Given the description of an element on the screen output the (x, y) to click on. 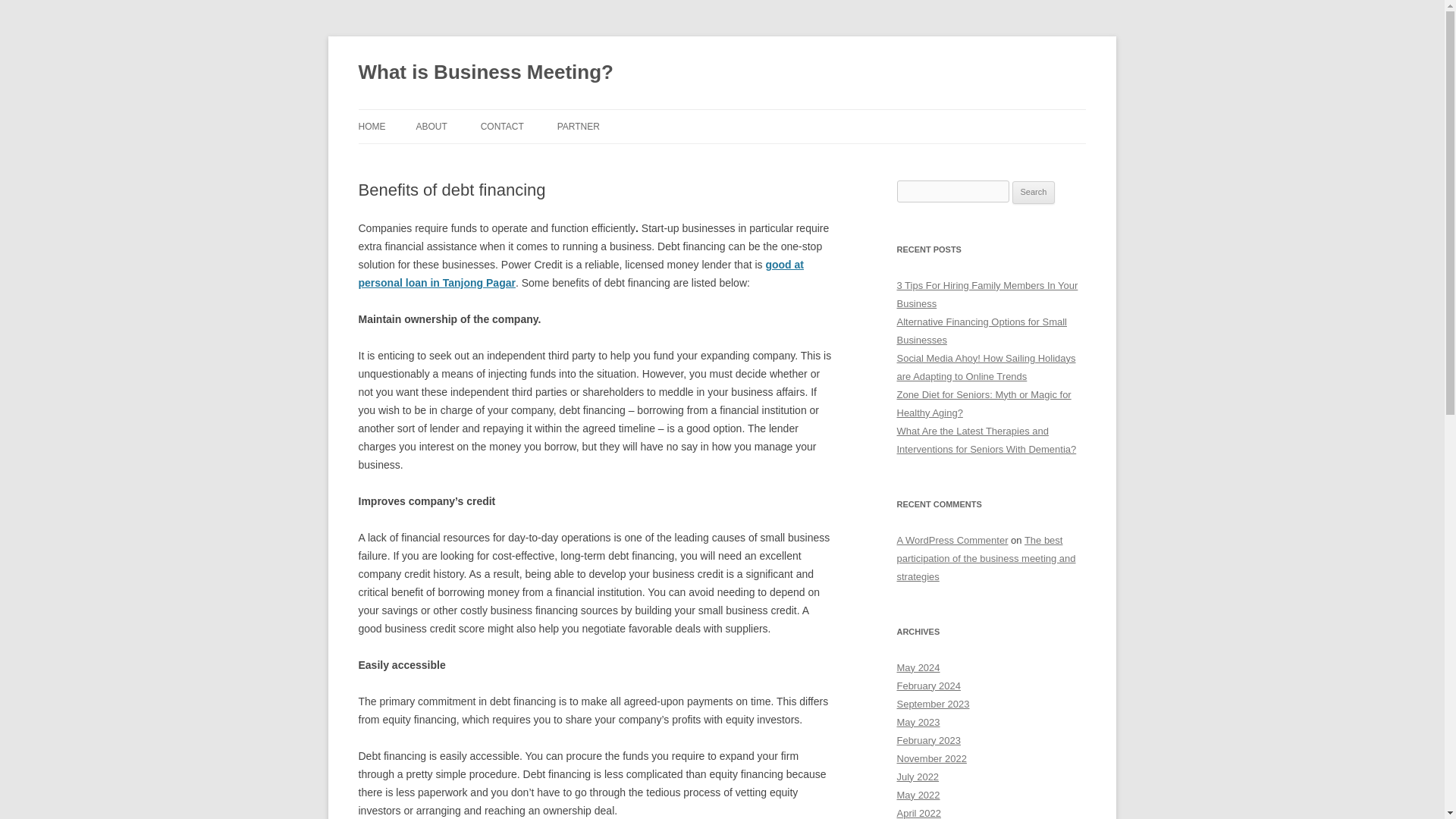
May 2023 (917, 722)
good at personal loan in Tanjong Pagar (580, 273)
February 2023 (927, 740)
What is Business Meeting? (485, 72)
3 Tips For Hiring Family Members In Your Business (986, 294)
May 2024 (917, 667)
PARTNER (578, 126)
Search (1033, 191)
Search (1033, 191)
November 2022 (931, 758)
February 2024 (927, 685)
Zone Diet for Seniors: Myth or Magic for Healthy Aging? (983, 403)
